Given the description of an element on the screen output the (x, y) to click on. 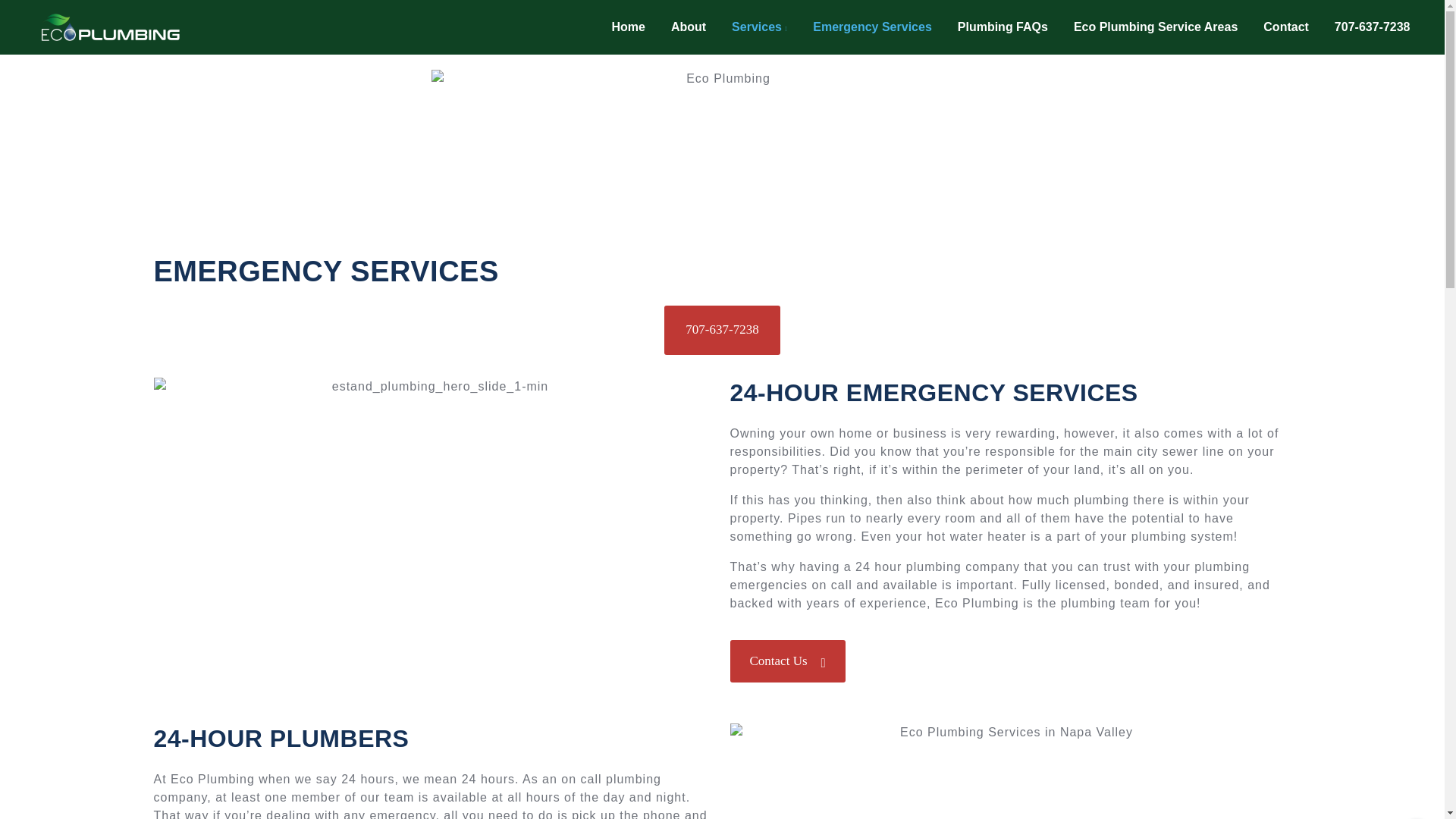
Plumbing FAQs (1003, 27)
Services (759, 27)
Eco Plumbing Service Areas (1155, 27)
Emergency Services (871, 27)
